Given the description of an element on the screen output the (x, y) to click on. 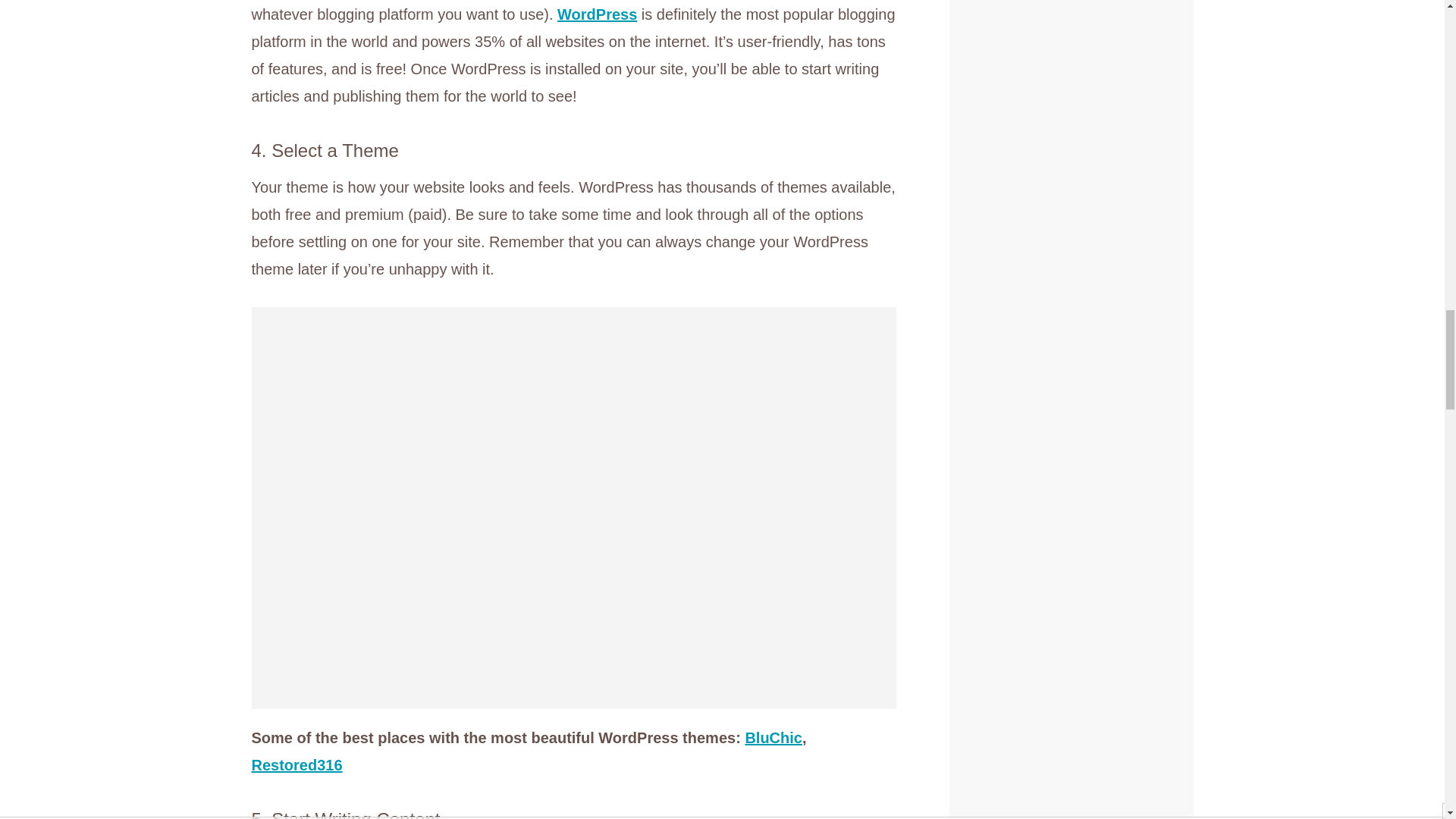
BluChic (773, 737)
Restored316 (296, 764)
WordPress (597, 13)
